Given the description of an element on the screen output the (x, y) to click on. 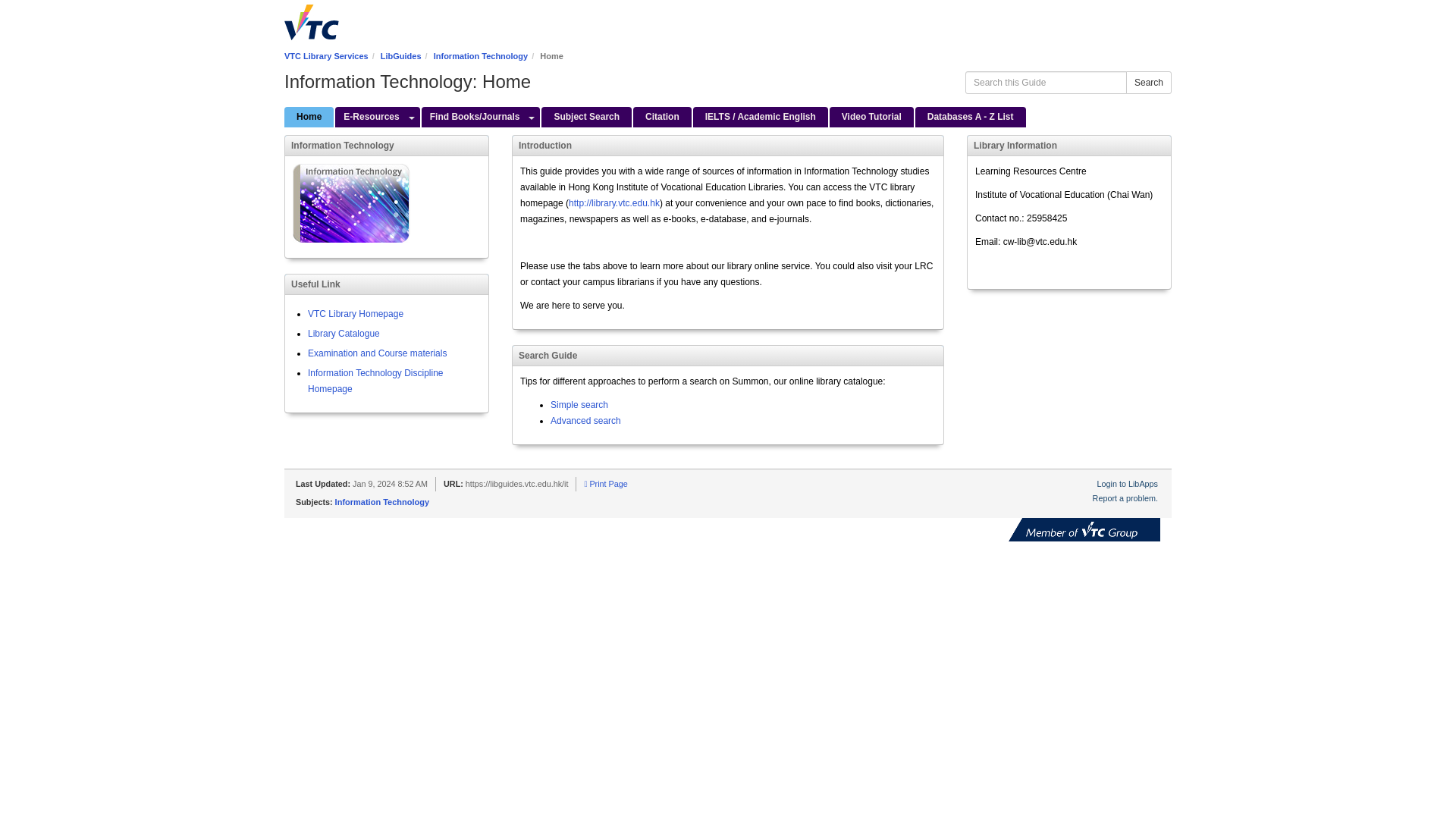
Simple search (579, 404)
Report a problem. (1125, 497)
Search (1148, 82)
VTC Library Homepage (355, 313)
Home (308, 117)
Information Technology Discipline Homepage (375, 380)
Print Page (605, 483)
Login to LibApps (1127, 483)
Examination and Course materials (376, 353)
Advanced search (585, 420)
VTC Library Services (325, 55)
Video Tutorial (871, 117)
Subject Search (586, 117)
LibGuides (401, 55)
E-Resources (368, 117)
